Given the description of an element on the screen output the (x, y) to click on. 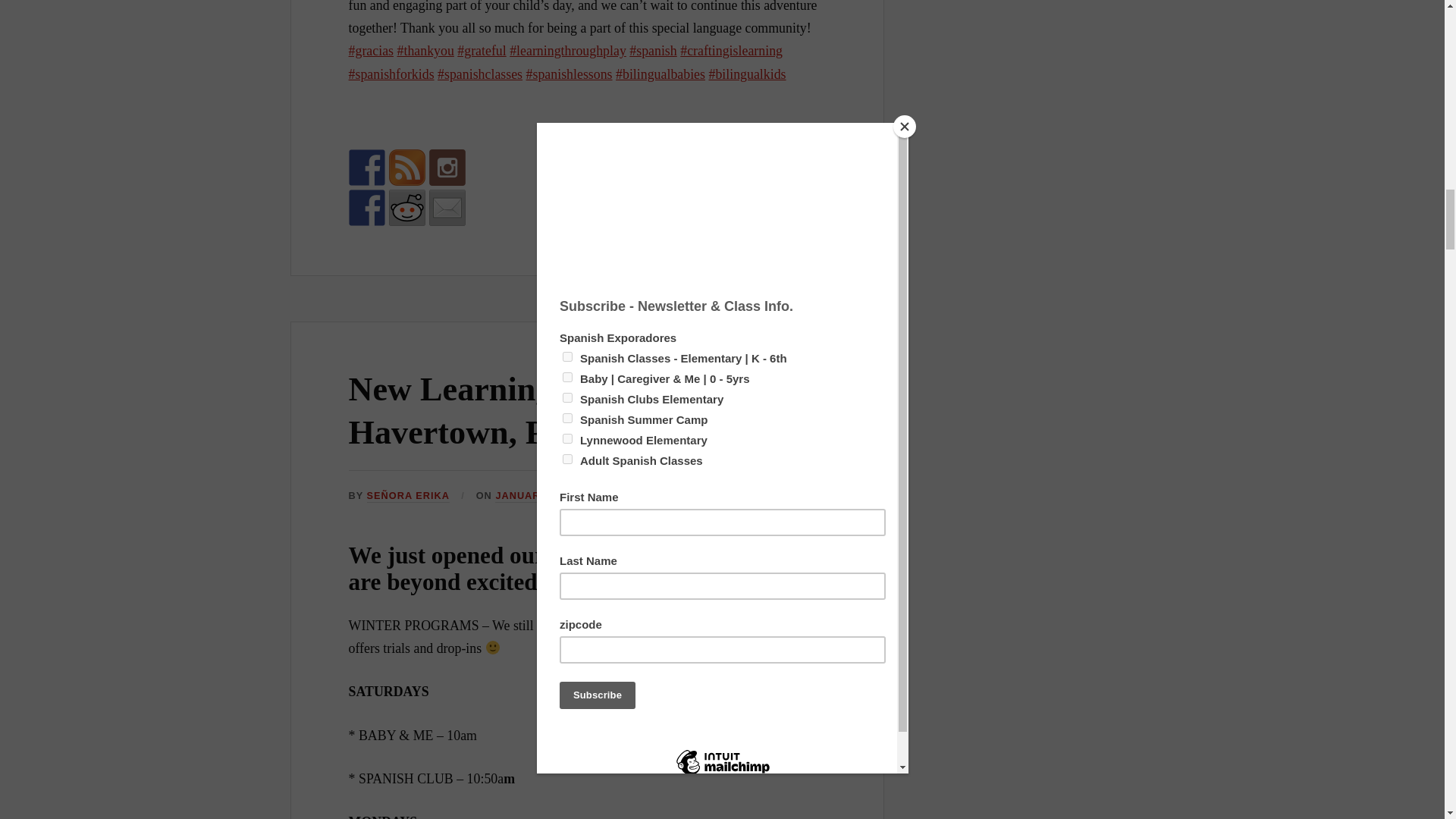
Follow us on Facebook (367, 167)
Subscribe to our RSS Feed (406, 167)
